Given the description of an element on the screen output the (x, y) to click on. 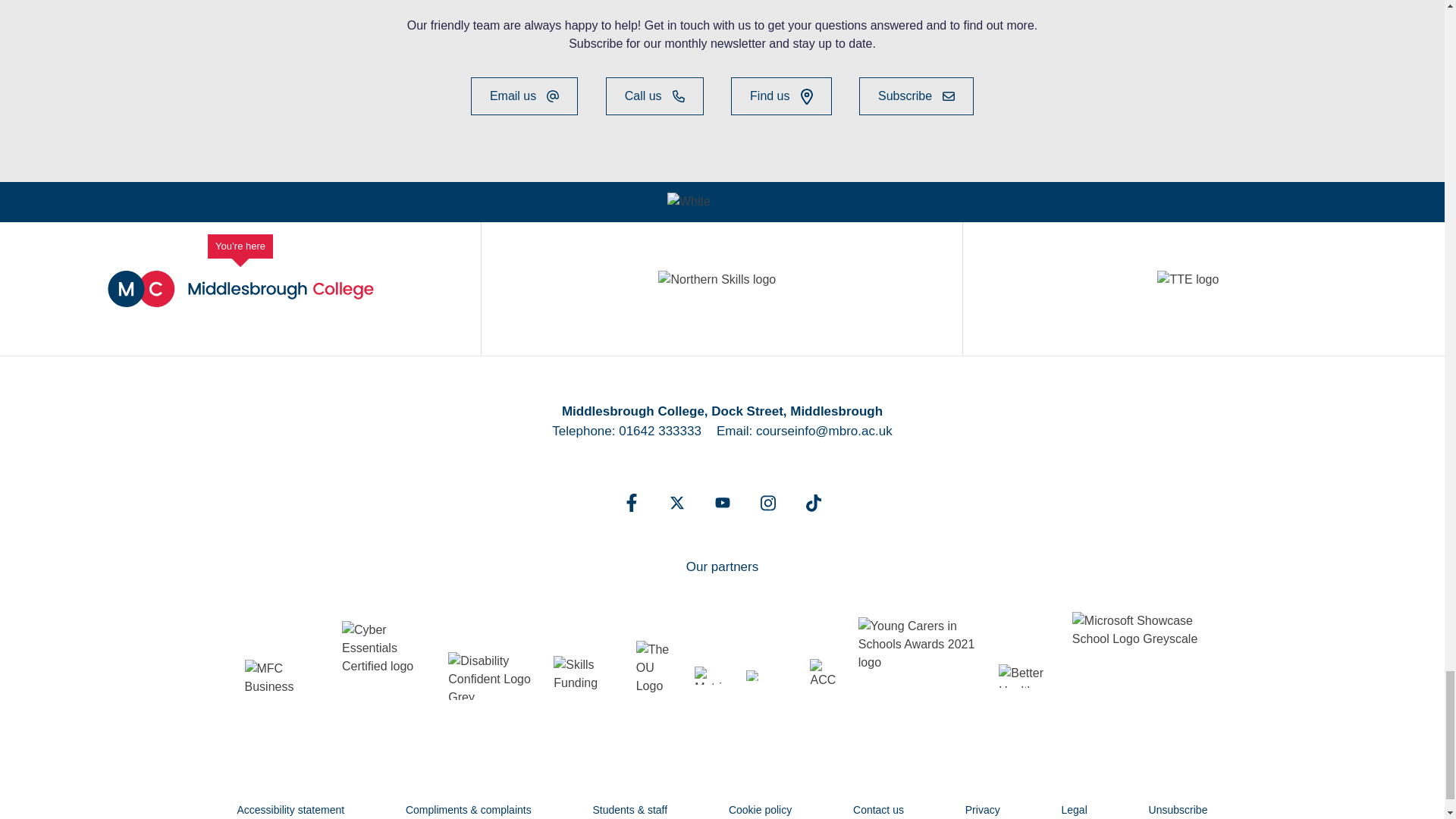
TTE Logo (1203, 289)
Northern Skills logo (721, 289)
Middlesbrough College logo (240, 289)
